Given the description of an element on the screen output the (x, y) to click on. 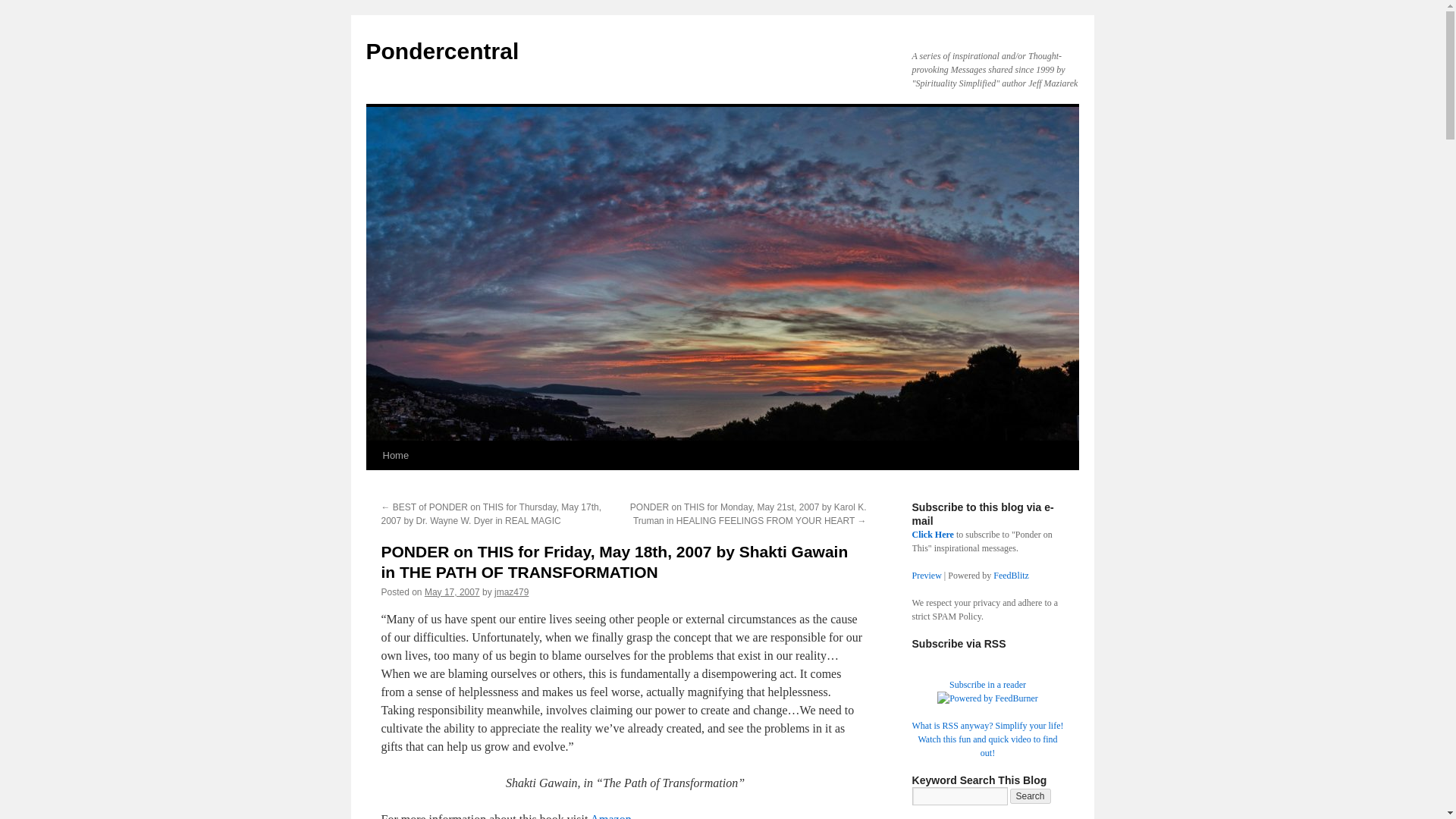
jmaz479 (511, 592)
May 17, 2007 (452, 592)
FeedBlitz (1010, 575)
9:30 pm (452, 592)
Home (395, 455)
Search (1030, 795)
Search (1030, 795)
Subscribe in a reader (987, 684)
Subscribe to my feed (987, 684)
View all posts by jmaz479 (511, 592)
Amazon (609, 816)
Click Here (932, 534)
Pondercentral (441, 50)
Preview (925, 575)
